Given the description of an element on the screen output the (x, y) to click on. 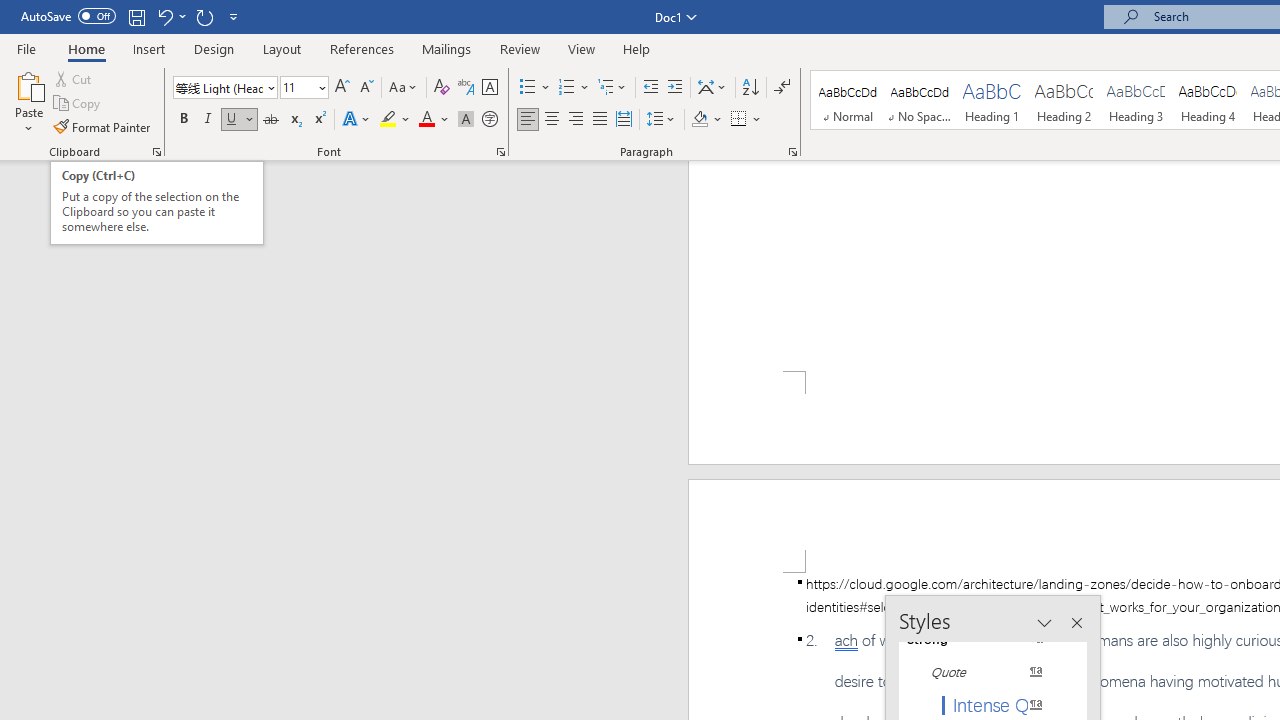
Heading 4 (1208, 100)
Quote (984, 672)
